Given the description of an element on the screen output the (x, y) to click on. 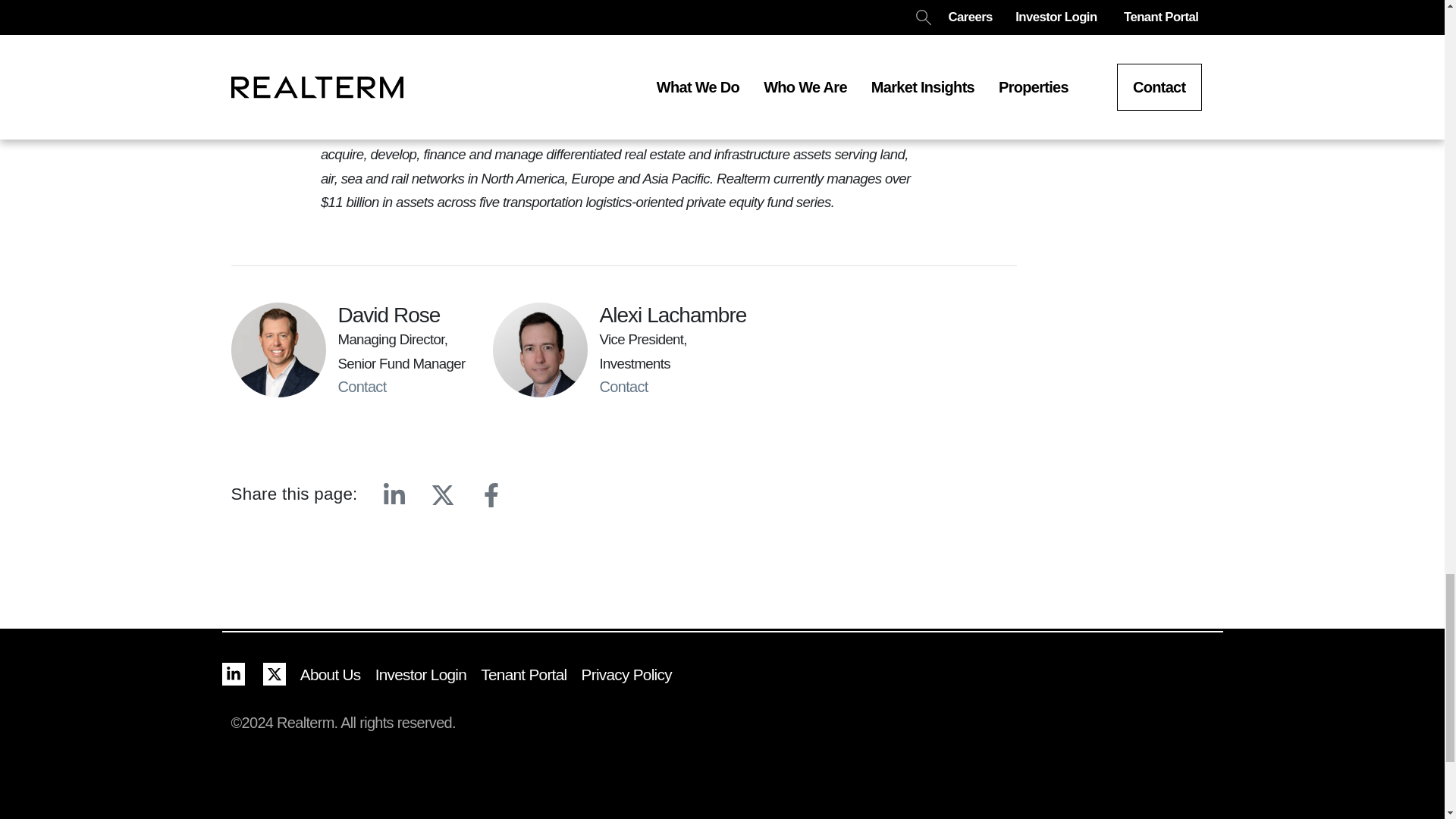
Linkedin (393, 494)
Twitter (442, 494)
Facebook (491, 494)
Contact (625, 386)
E-mail (539, 494)
Contact (363, 386)
